Given the description of an element on the screen output the (x, y) to click on. 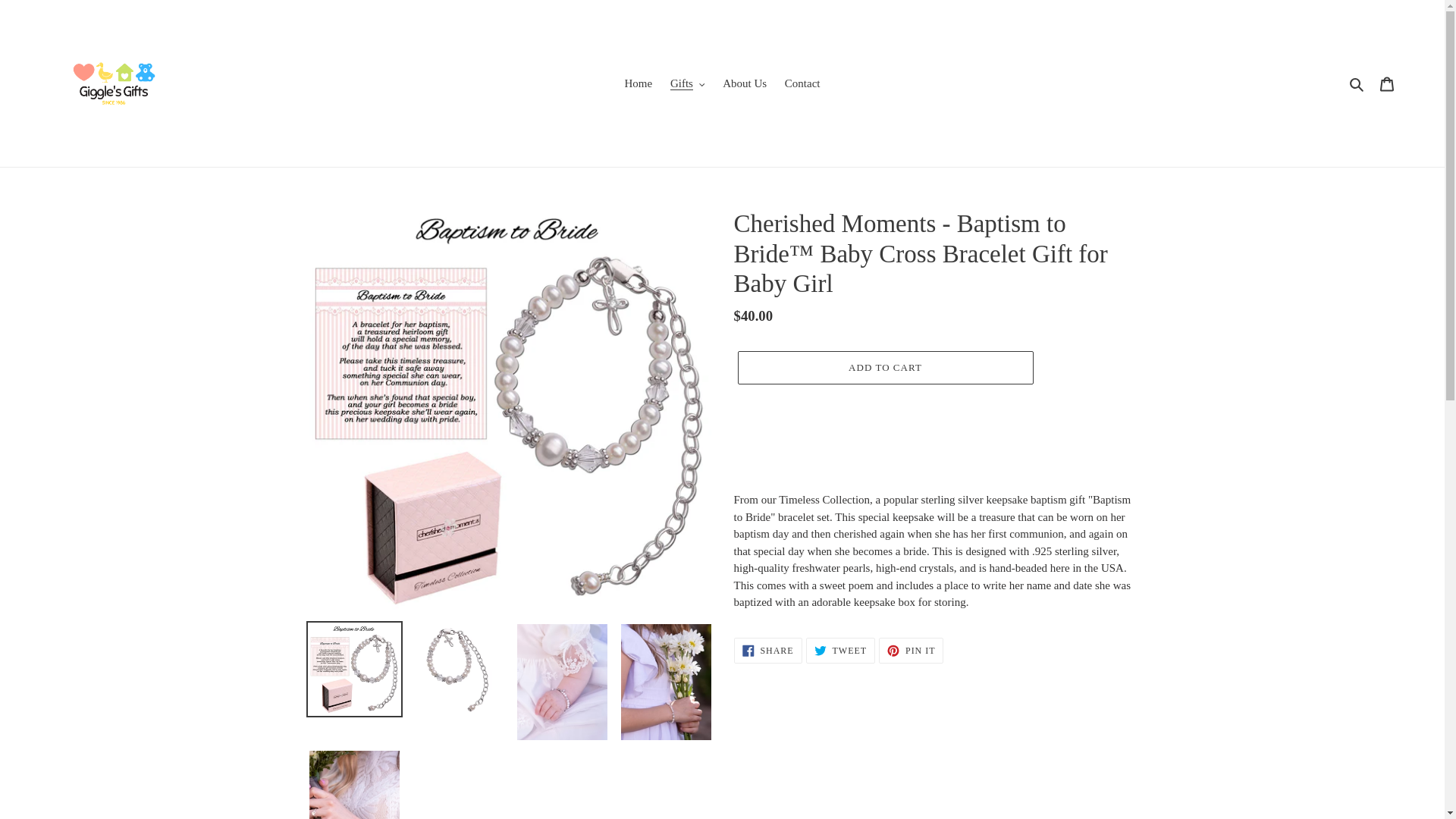
Contact (802, 83)
Cart (1387, 83)
About Us (744, 83)
Gifts (687, 83)
Home (639, 83)
Search (1357, 83)
